Given the description of an element on the screen output the (x, y) to click on. 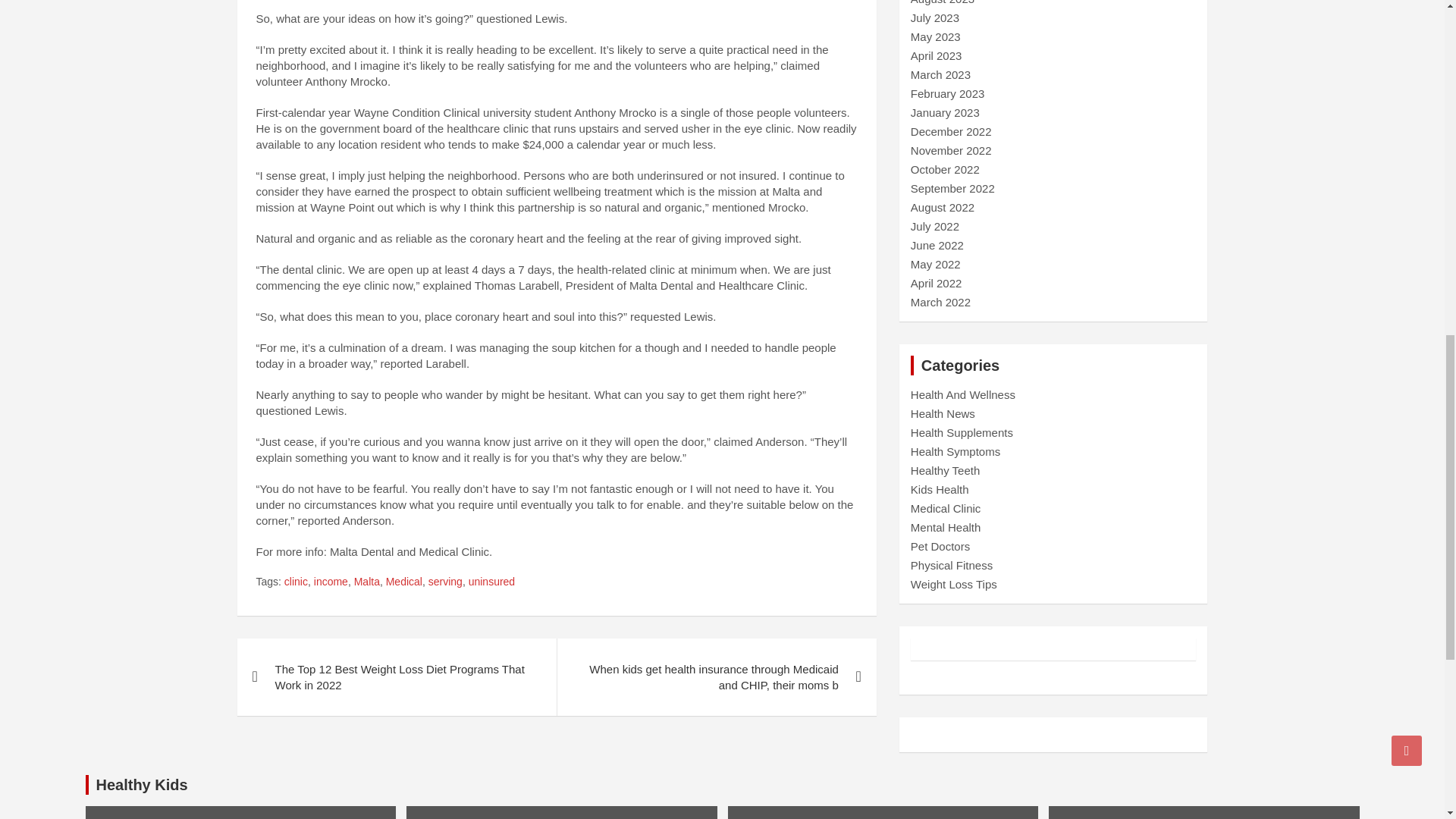
clinic (295, 581)
Medical (403, 581)
income (330, 581)
The Top 12 Best Weight Loss Diet Programs That Work in 2022 (395, 676)
serving (445, 581)
Malta (366, 581)
uninsured (491, 581)
